Given the description of an element on the screen output the (x, y) to click on. 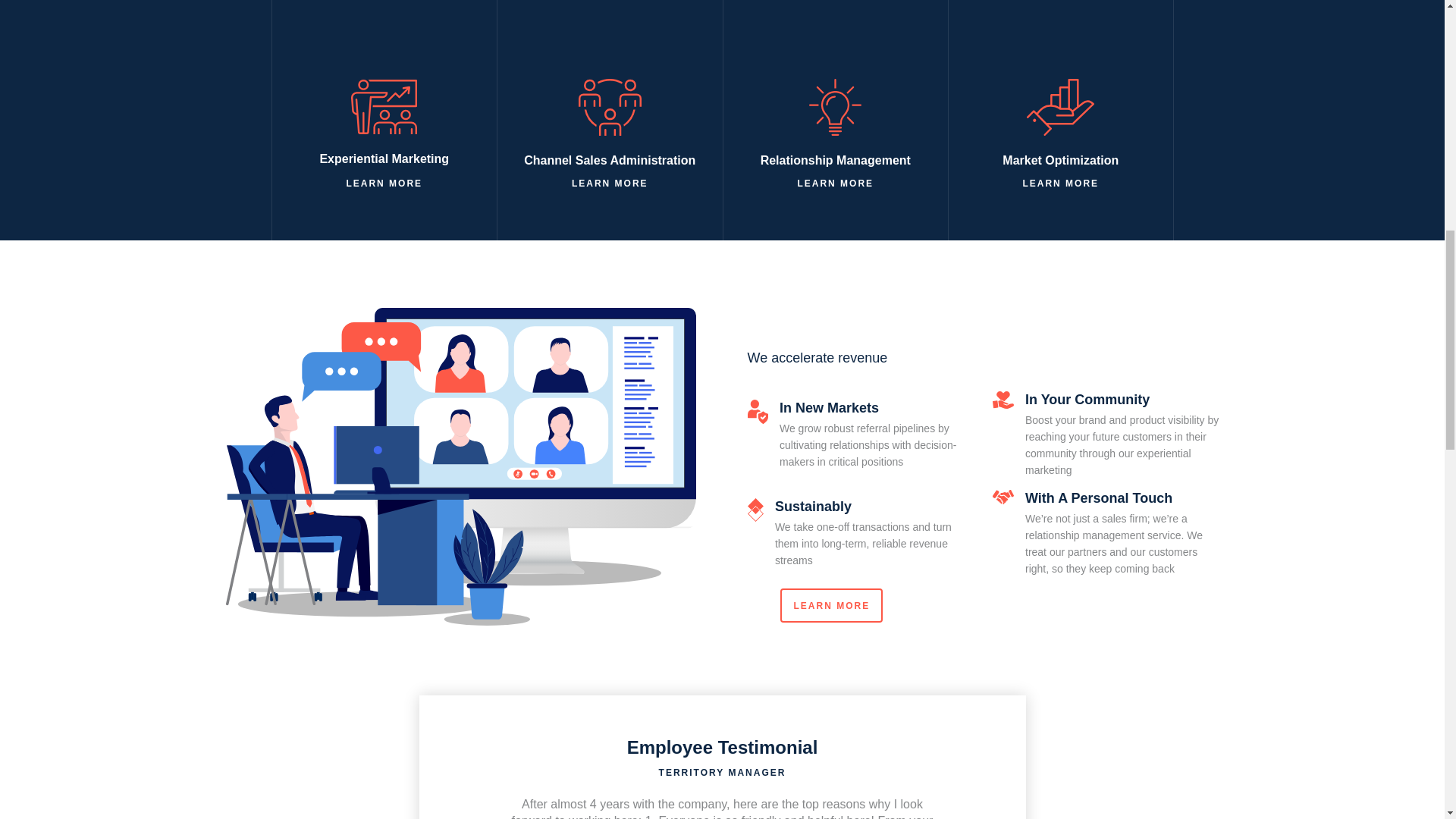
LEARN MORE (834, 182)
LEARN MORE (384, 182)
LEARN MORE (830, 605)
Relationship Management (835, 125)
Market Optimization (1060, 125)
LEARN MORE (609, 182)
LEARN MORE (1060, 182)
Channel Sales Administration (609, 125)
Experiential Marketing (384, 125)
